Given the description of an element on the screen output the (x, y) to click on. 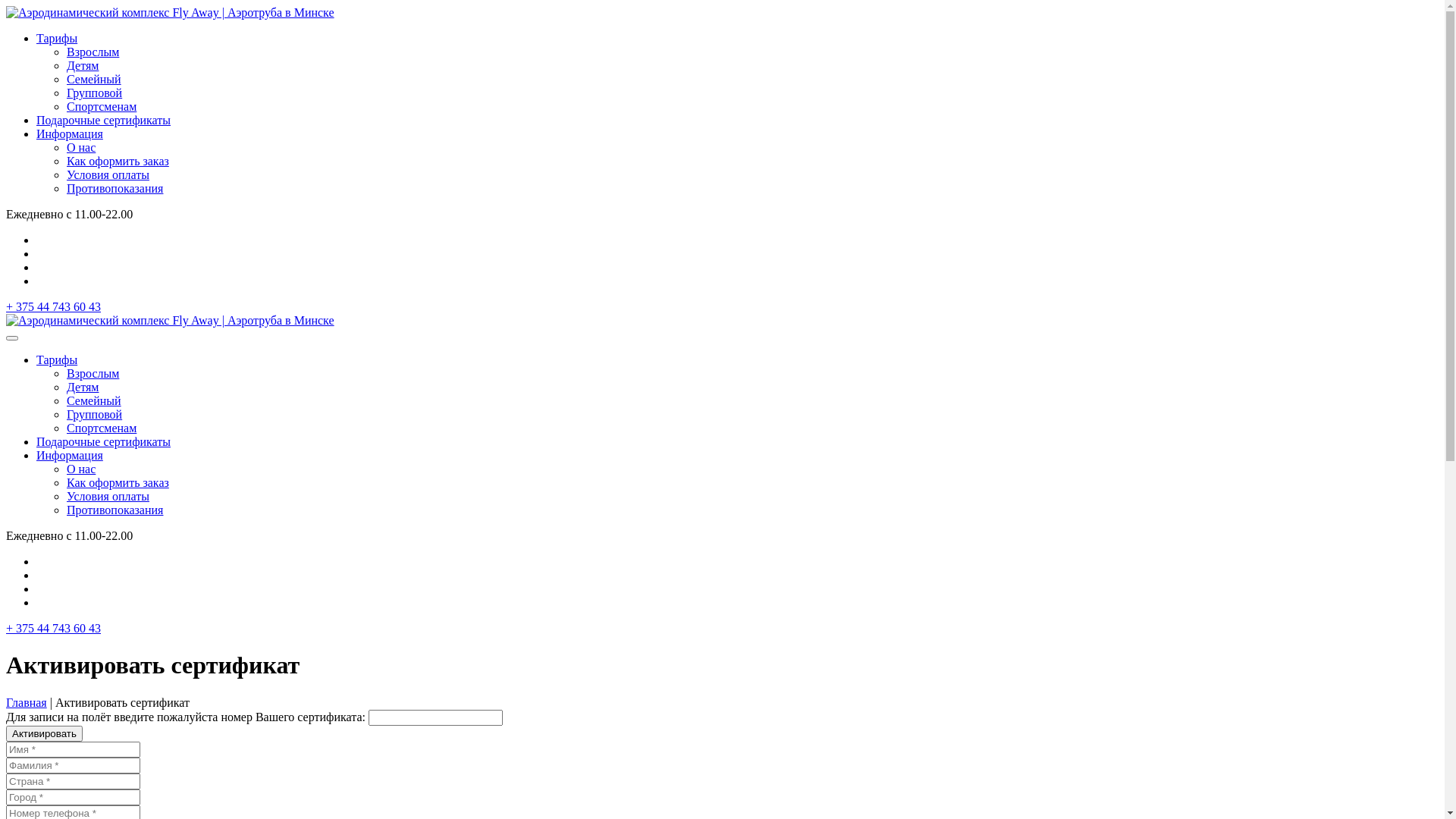
+ 375 44 743 60 43 Element type: text (53, 627)
+ 375 44 743 60 43 Element type: text (53, 306)
